Given the description of an element on the screen output the (x, y) to click on. 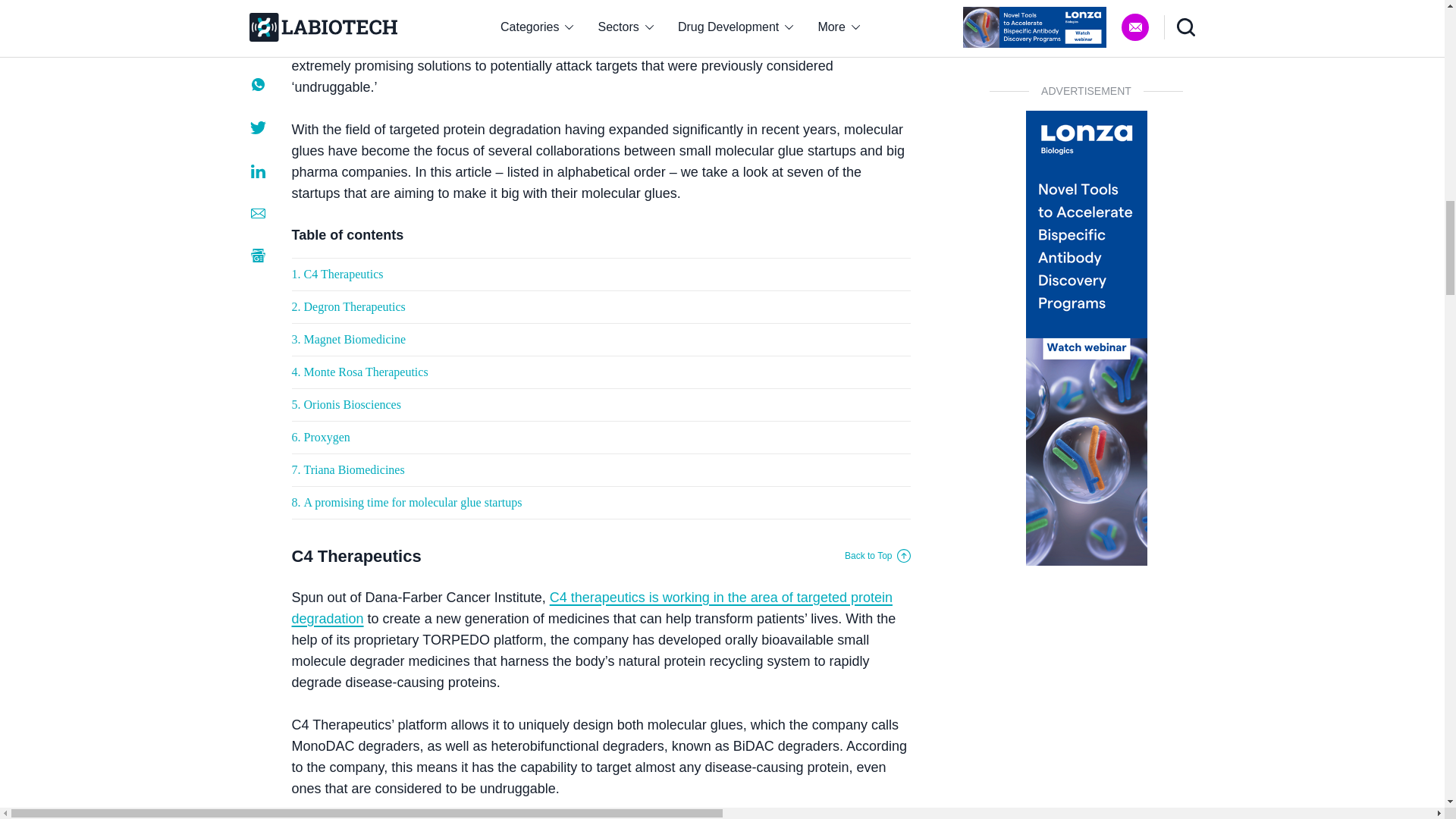
Proxygen (325, 436)
